Given the description of an element on the screen output the (x, y) to click on. 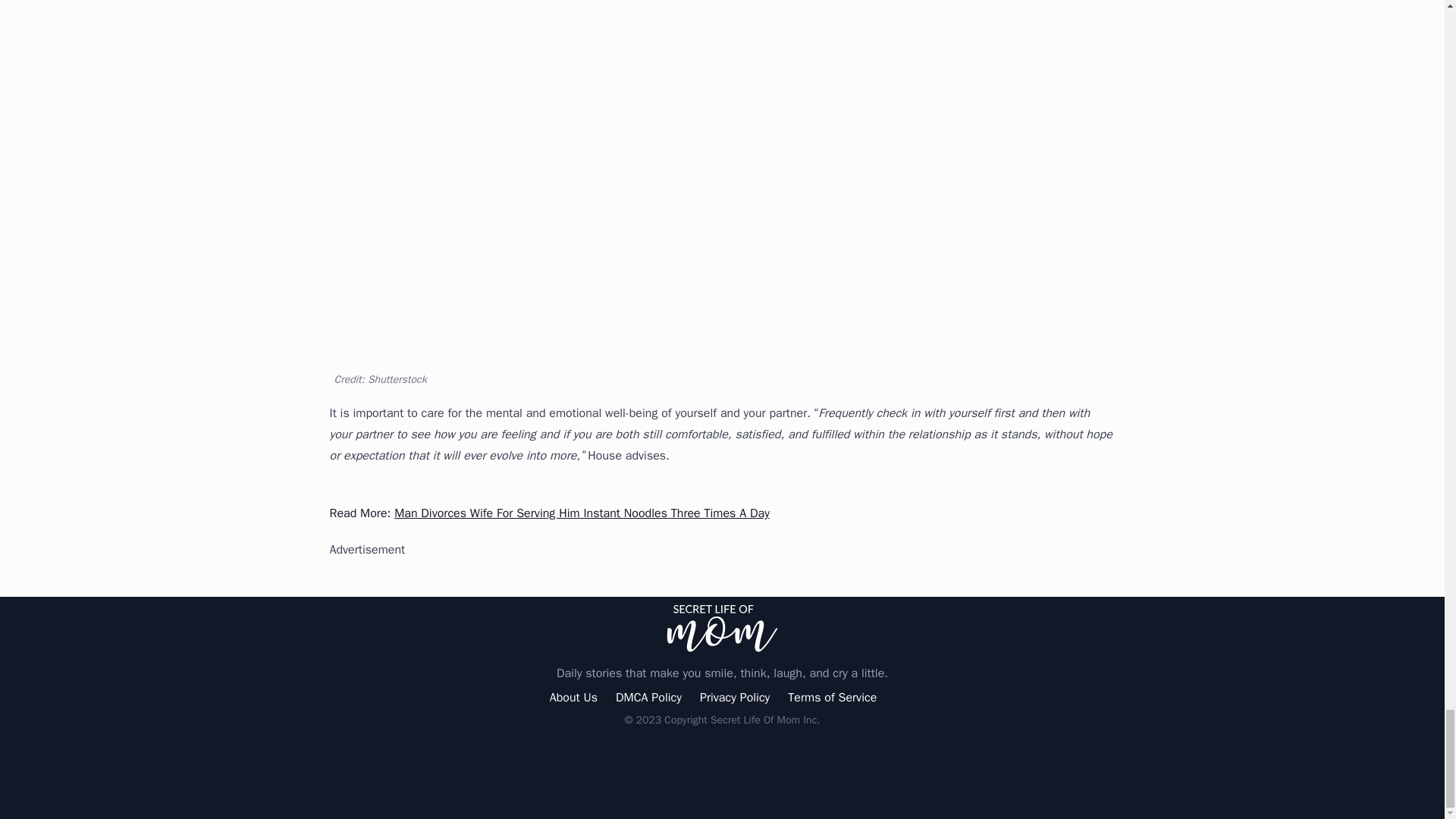
Privacy Policy (735, 697)
Terms of Service (831, 697)
DMCA Policy (648, 697)
About Us (573, 697)
